Given the description of an element on the screen output the (x, y) to click on. 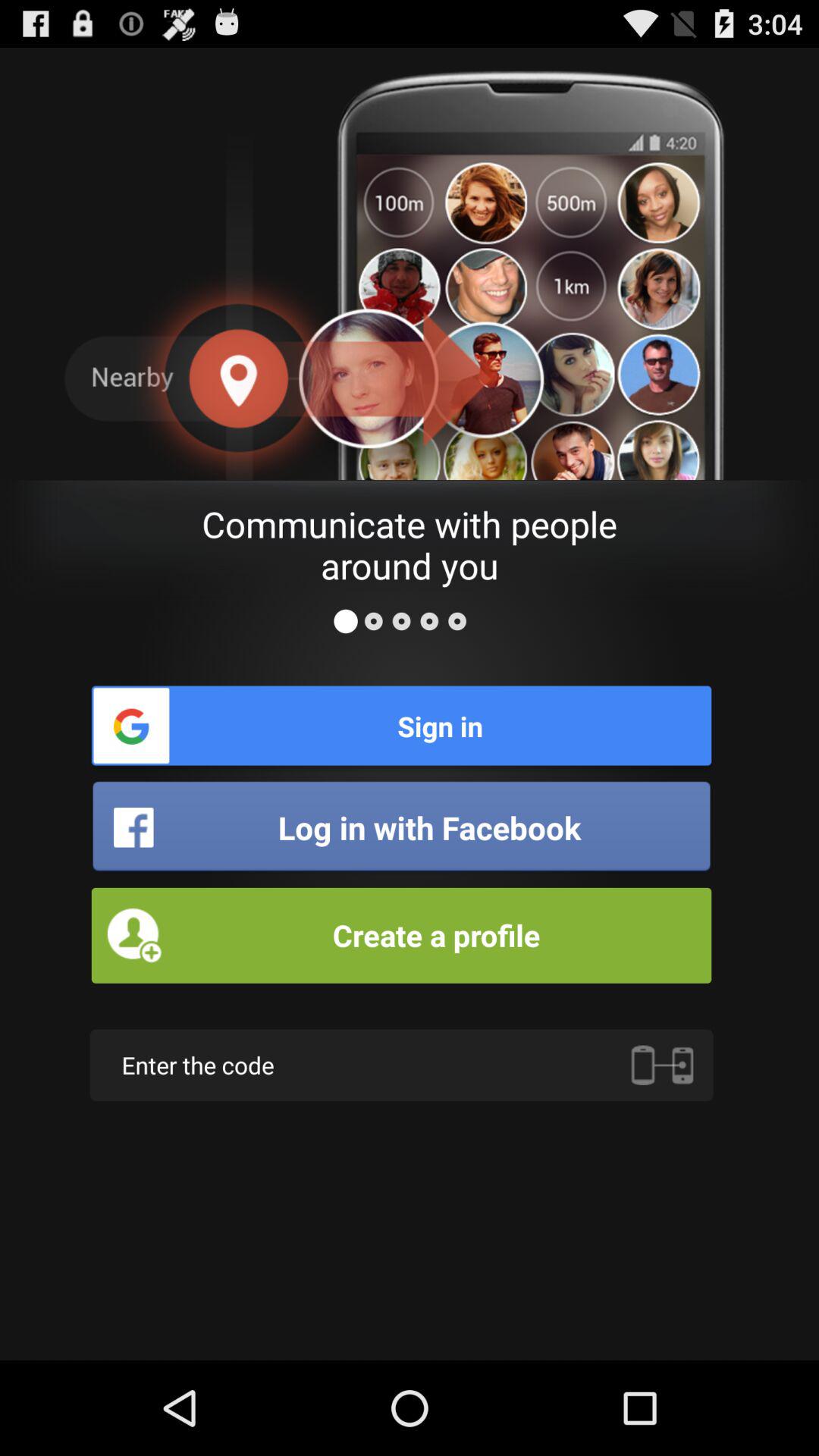
swipe to enter the code (401, 1065)
